Given the description of an element on the screen output the (x, y) to click on. 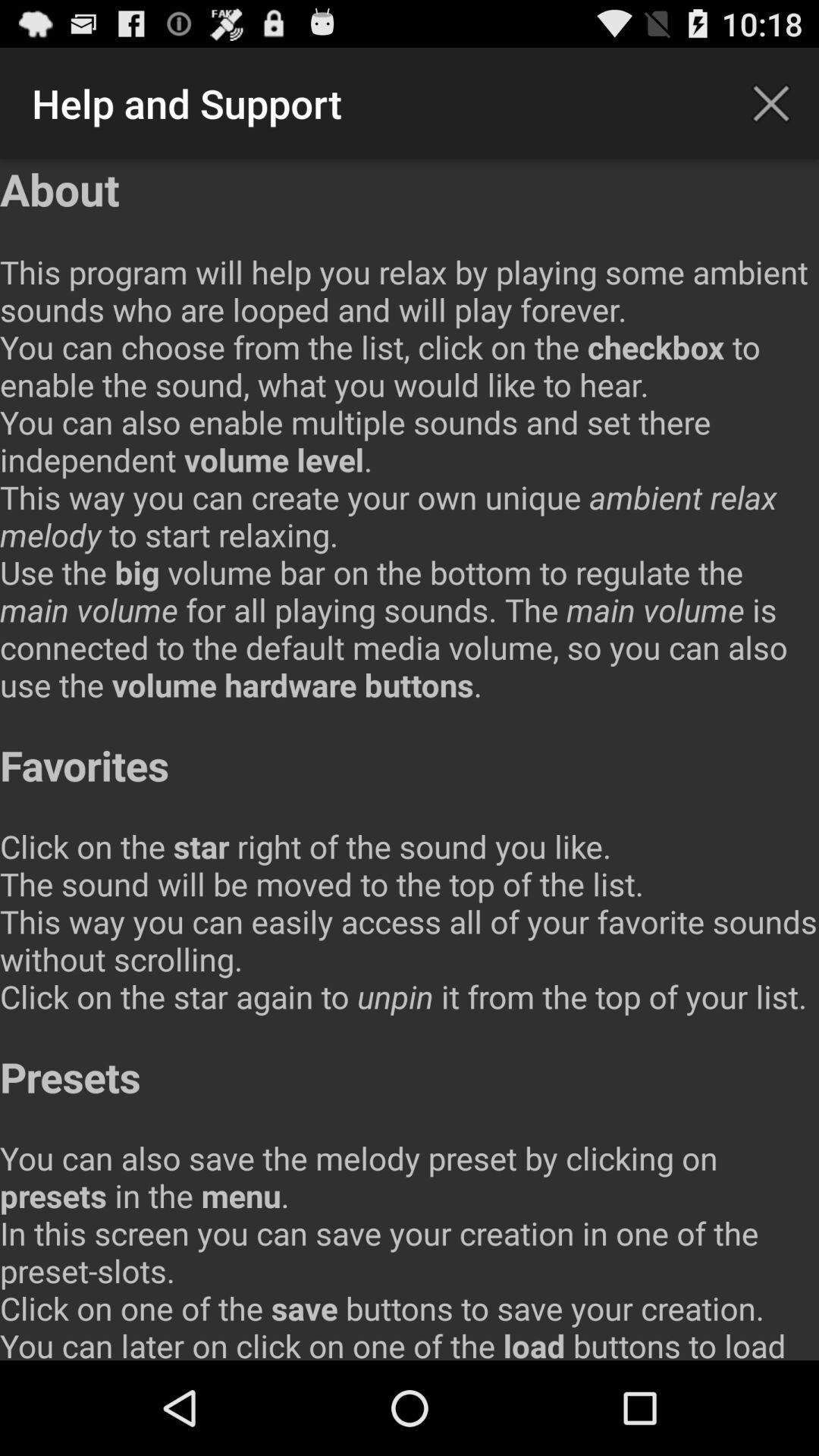
tap item at the top right corner (771, 103)
